Given the description of an element on the screen output the (x, y) to click on. 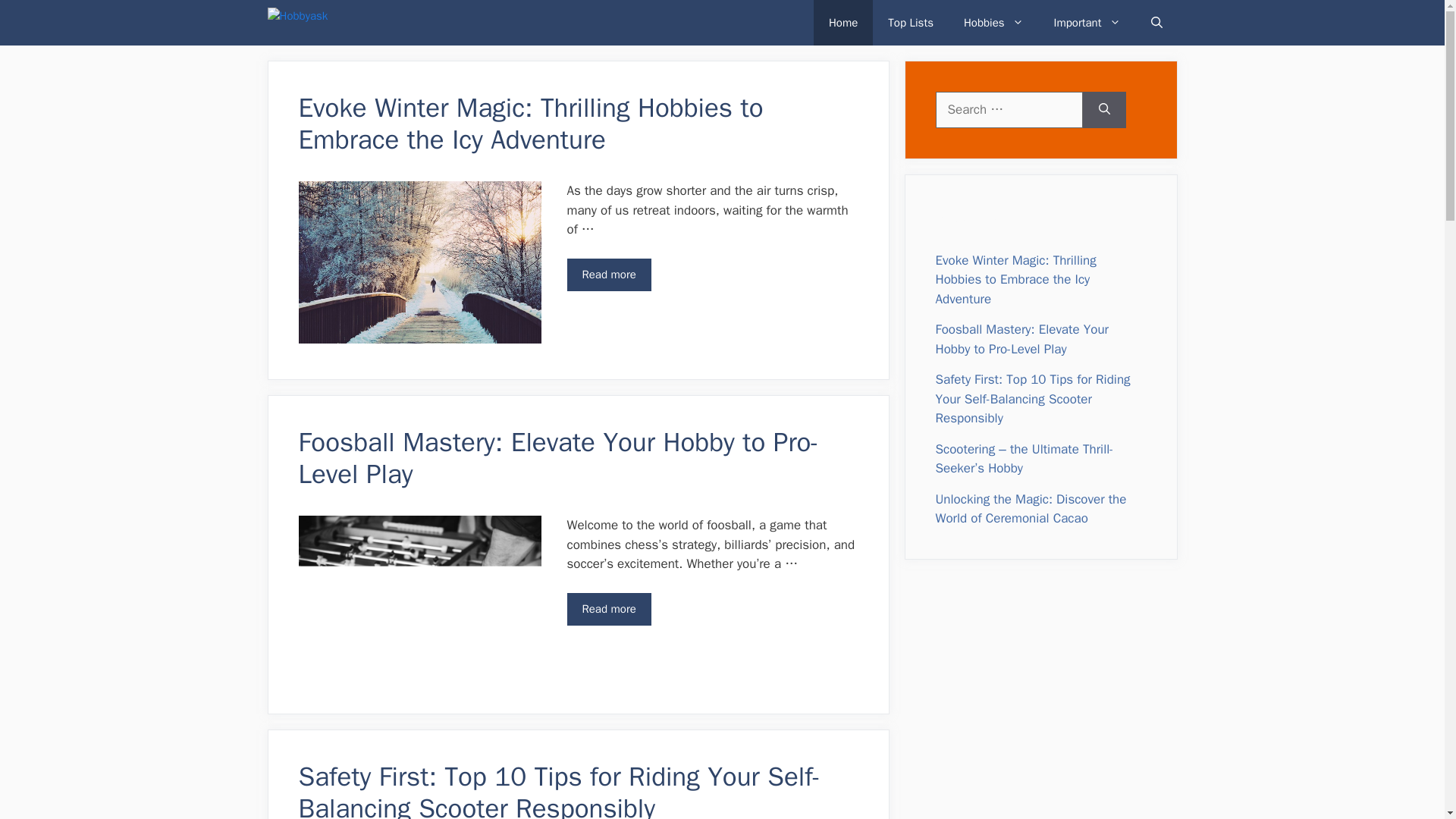
Top Lists (910, 22)
Search for: (1009, 109)
Home (842, 22)
Foosball Mastery: Elevate Your Hobby to Pro-Level Play (608, 608)
Hobbies (994, 22)
Read more (608, 274)
Important (1087, 22)
Foosball Mastery: Elevate Your Hobby to Pro-Level Play (558, 457)
Hobbyask (342, 22)
Read more (608, 608)
